Given the description of an element on the screen output the (x, y) to click on. 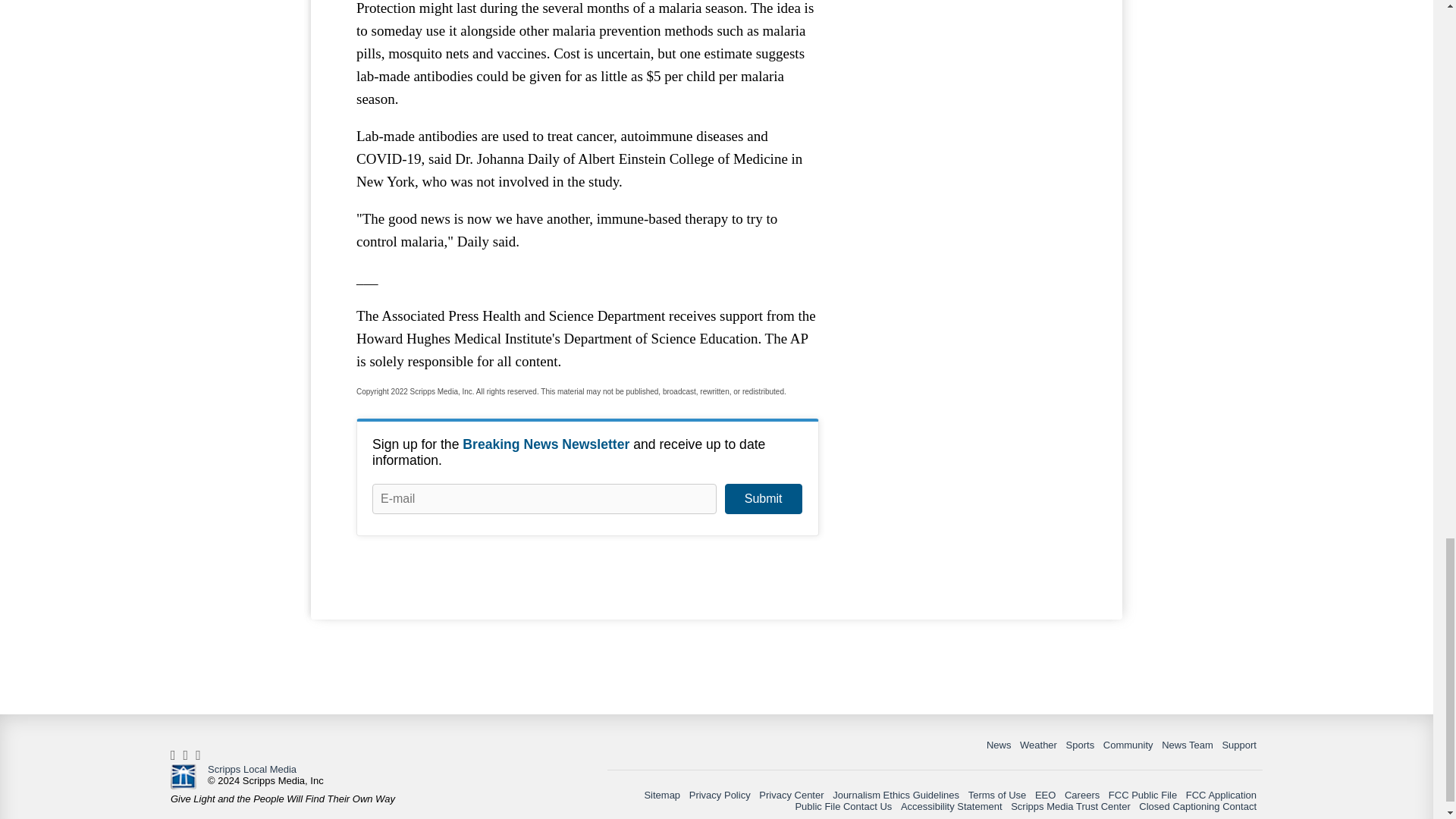
Submit (763, 499)
